Given the description of an element on the screen output the (x, y) to click on. 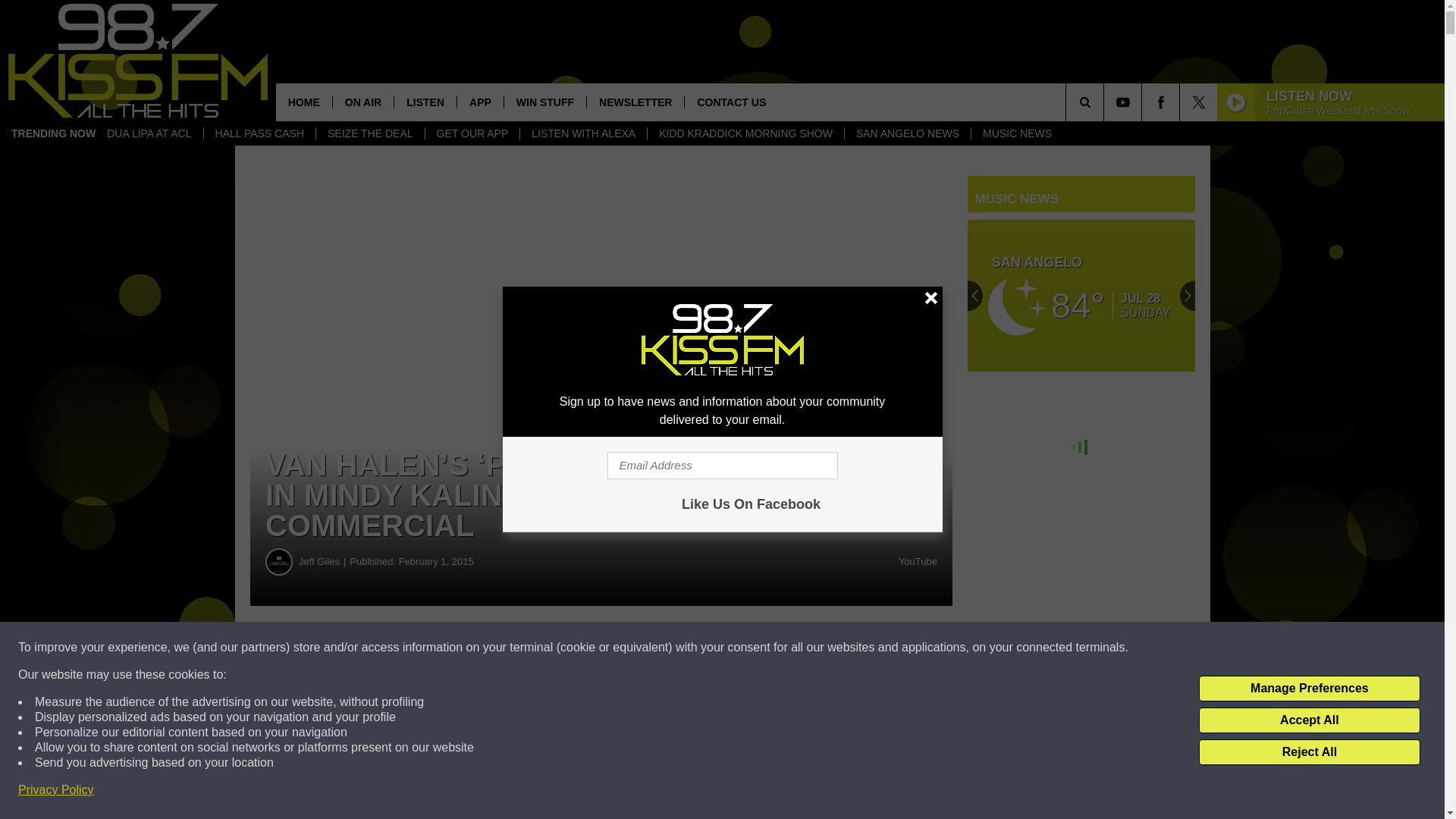
SAN ANGELO NEWS (907, 133)
KIDD KRADDICK MORNING SHOW (745, 133)
SEARCH (1106, 102)
SEARCH (1106, 102)
WIN STUFF (544, 102)
DUA LIPA AT ACL (149, 133)
HOME (303, 102)
Share on Twitter (741, 647)
NEWSLETTER (635, 102)
San Angelo Weather (1081, 295)
ON AIR (362, 102)
CONTACT US (730, 102)
Email Address (722, 465)
Manage Preferences (1309, 688)
Share on Facebook (460, 647)
